Given the description of an element on the screen output the (x, y) to click on. 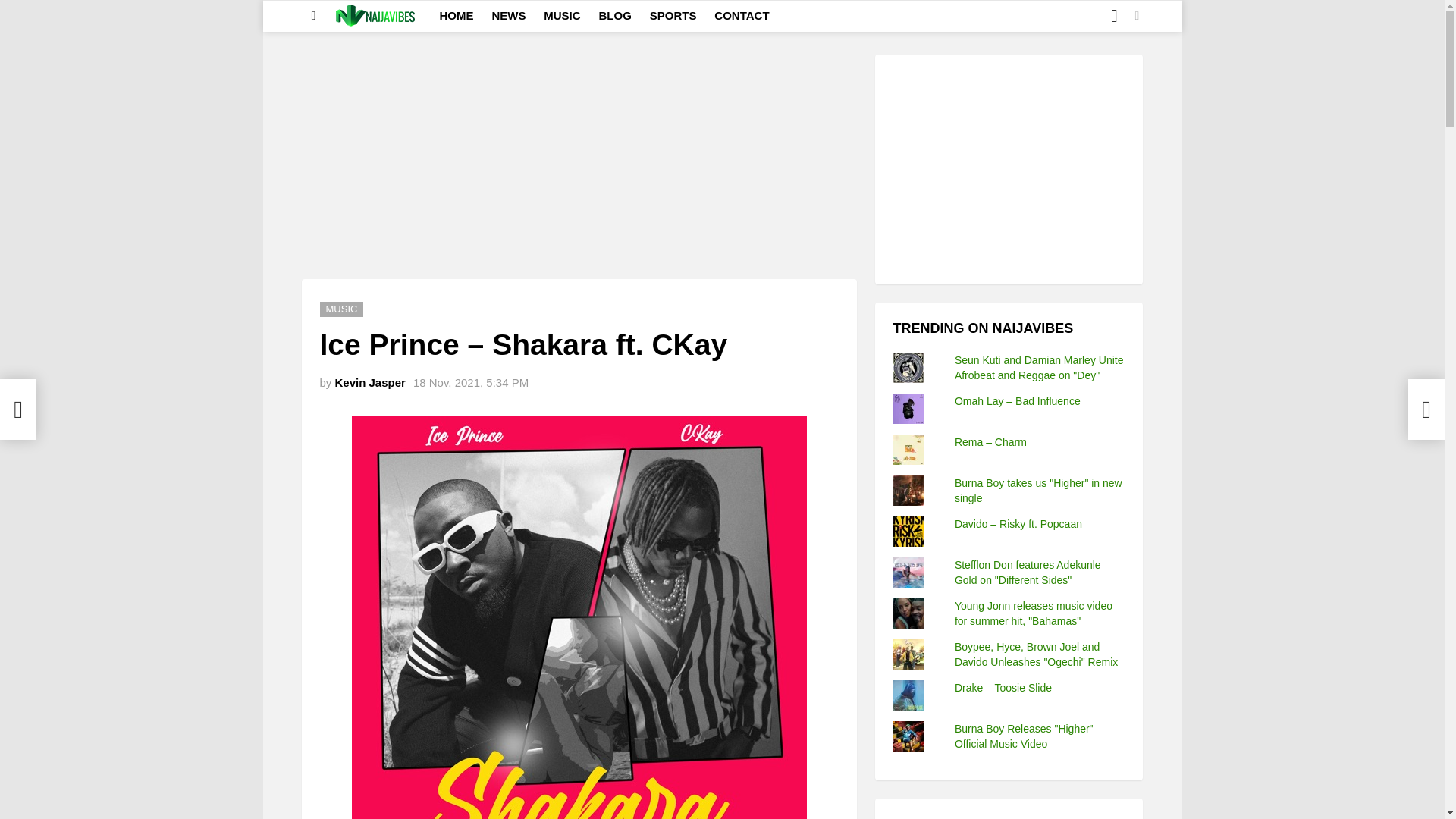
MUSIC (561, 15)
MUSIC (342, 309)
CONTACT (741, 15)
HOME (456, 15)
Menu (313, 15)
Kevin Jasper (370, 382)
SPORTS (673, 15)
NEWS (507, 15)
BLOG (615, 15)
Posts by Kevin Jasper (370, 382)
